Given the description of an element on the screen output the (x, y) to click on. 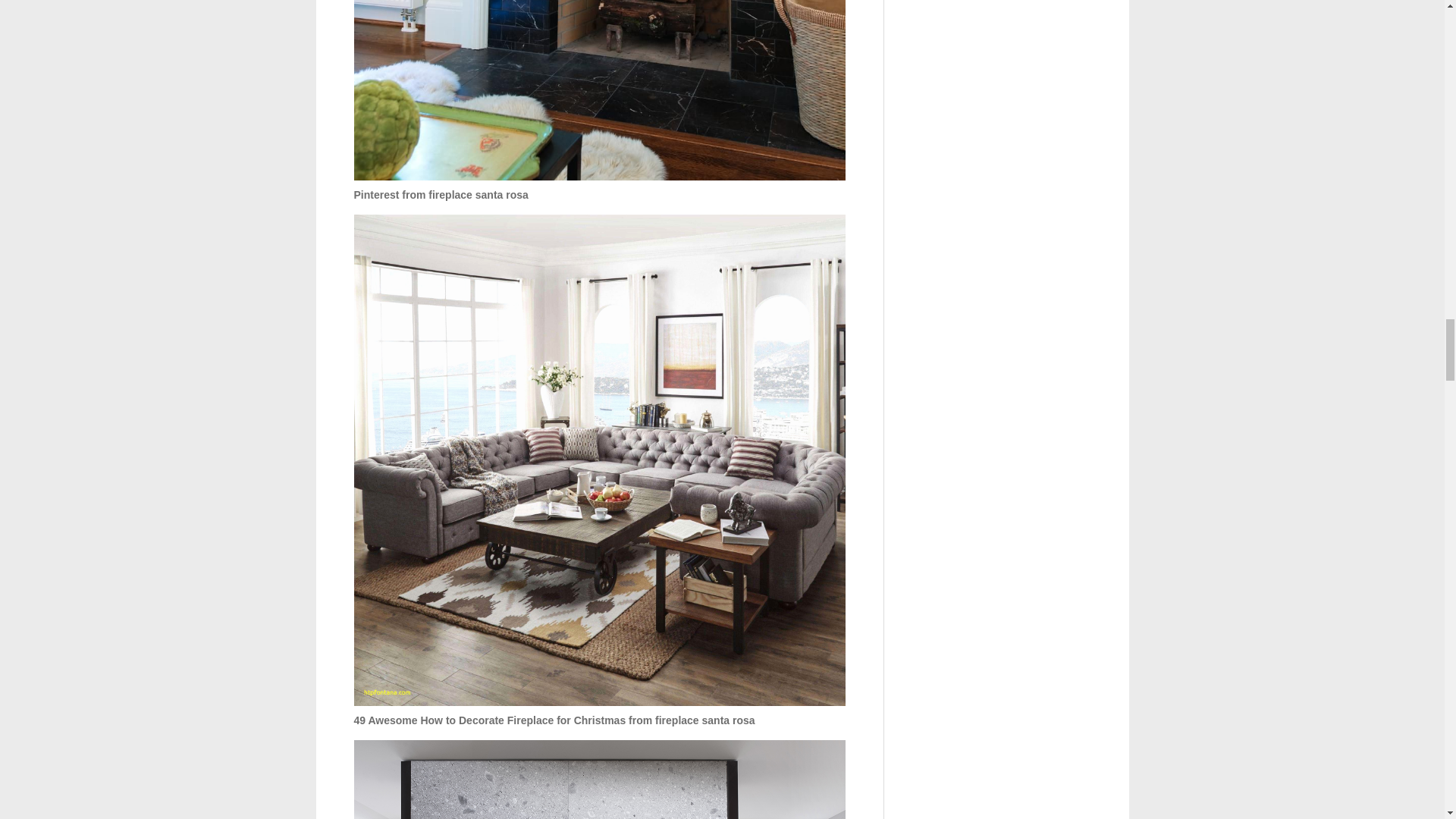
Pinterest (598, 90)
78 Best Smokin Hot fireplaces images in 2019 (598, 779)
